Given the description of an element on the screen output the (x, y) to click on. 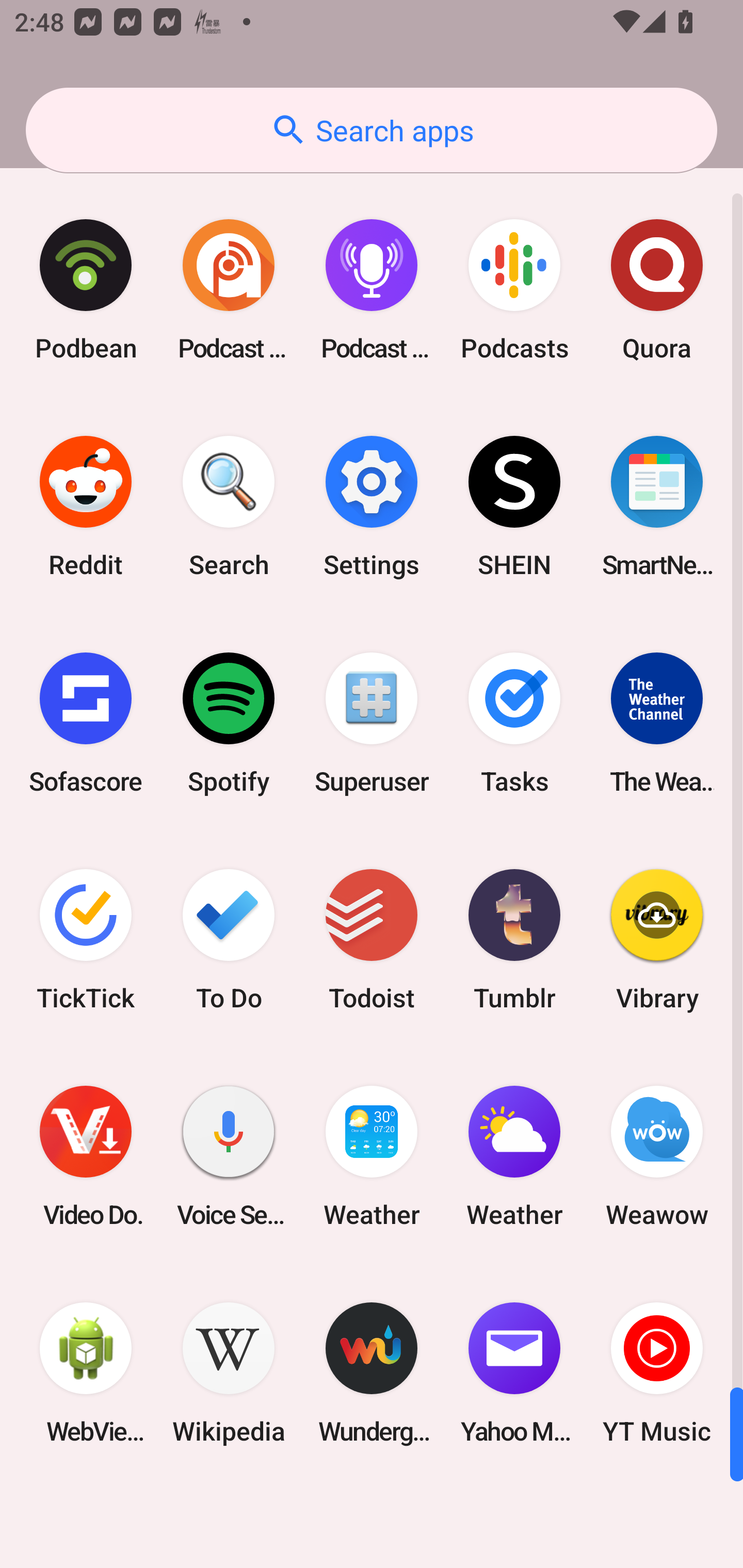
  Search apps (371, 130)
Podbean (85, 289)
Podcast Addict (228, 289)
Podcast Player (371, 289)
Podcasts (514, 289)
Quora (656, 289)
Reddit (85, 506)
Search (228, 506)
Settings (371, 506)
SHEIN (514, 506)
SmartNews (656, 506)
Sofascore (85, 722)
Spotify (228, 722)
Superuser (371, 722)
Tasks (514, 722)
The Weather Channel (656, 722)
TickTick (85, 939)
To Do (228, 939)
Todoist (371, 939)
Tumblr (514, 939)
Vibrary (656, 939)
Video Downloader & Ace Player (85, 1156)
Voice Search (228, 1156)
Weather (371, 1156)
Weather (514, 1156)
Weawow (656, 1156)
WebView Browser Tester (85, 1373)
Wikipedia (228, 1373)
Wunderground (371, 1373)
Yahoo Mail (514, 1373)
YT Music (656, 1373)
